Given the description of an element on the screen output the (x, y) to click on. 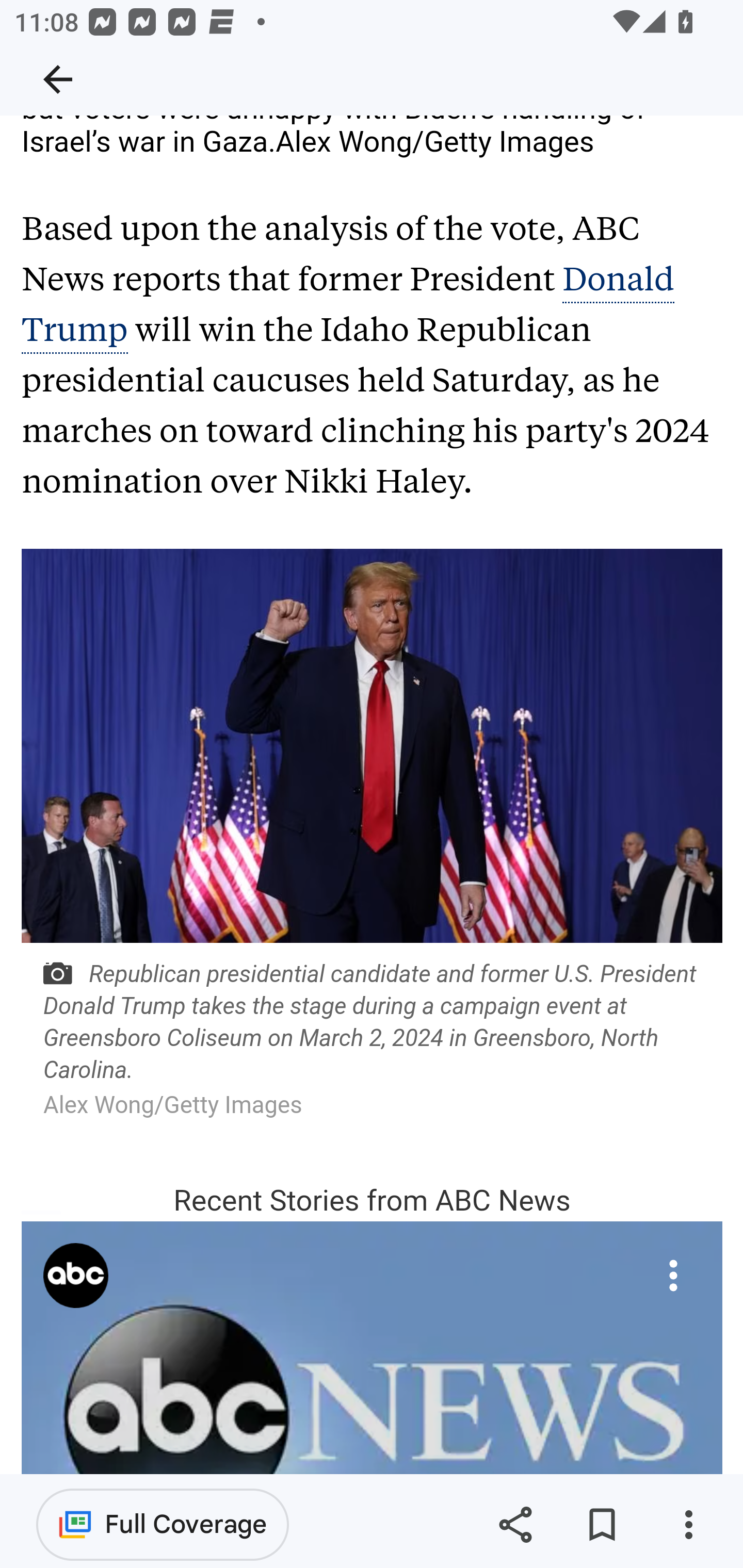
Navigate up (57, 79)
Donald Trump (348, 305)
More (673, 1276)
Share (514, 1524)
Save for later (601, 1524)
More options (688, 1524)
Full Coverage (162, 1524)
